Given the description of an element on the screen output the (x, y) to click on. 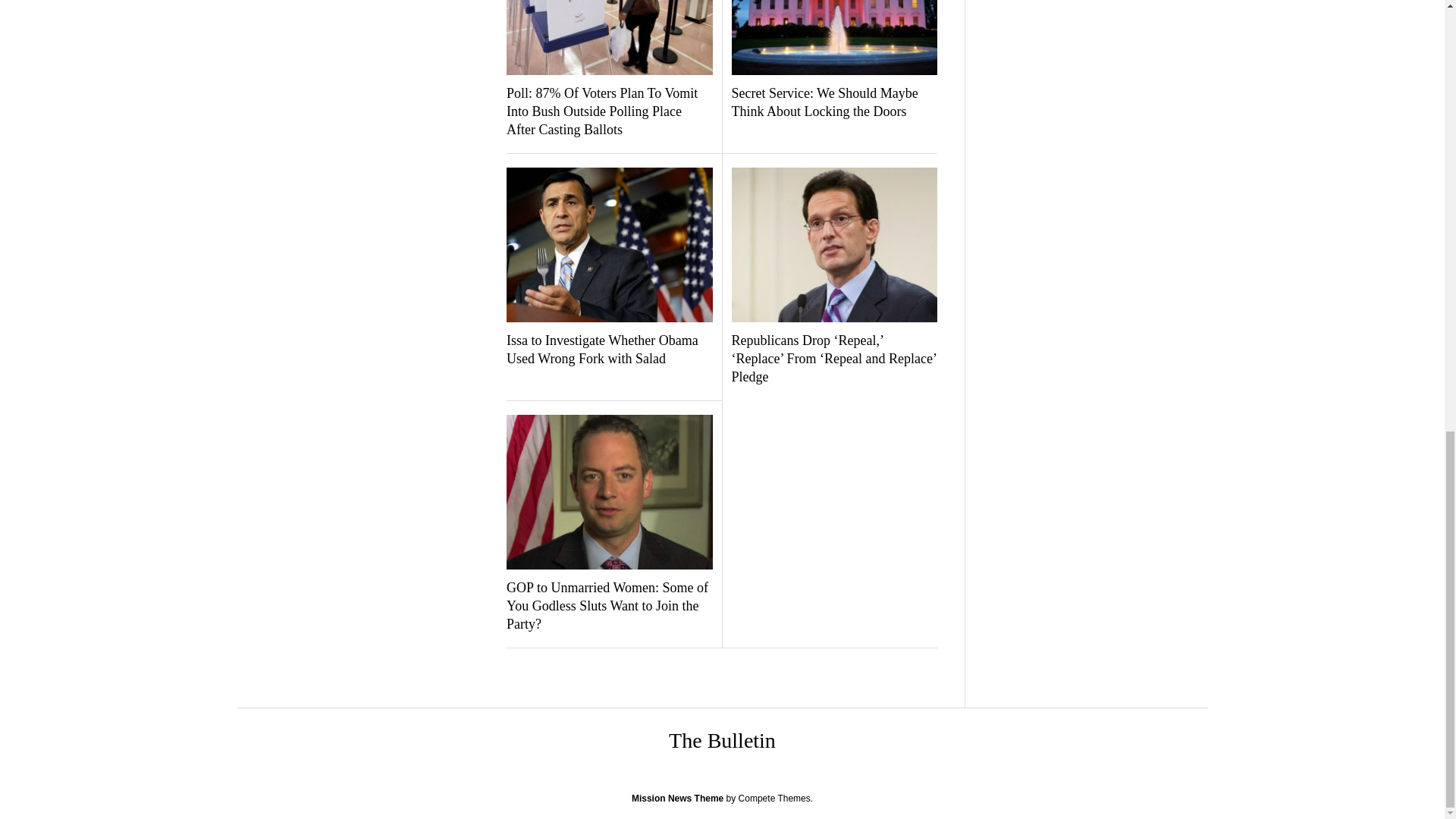
Mission News Theme (677, 798)
Issa to Investigate Whether Obama Used Wrong Fork with Salad (608, 350)
The Bulletin (722, 740)
